Given the description of an element on the screen output the (x, y) to click on. 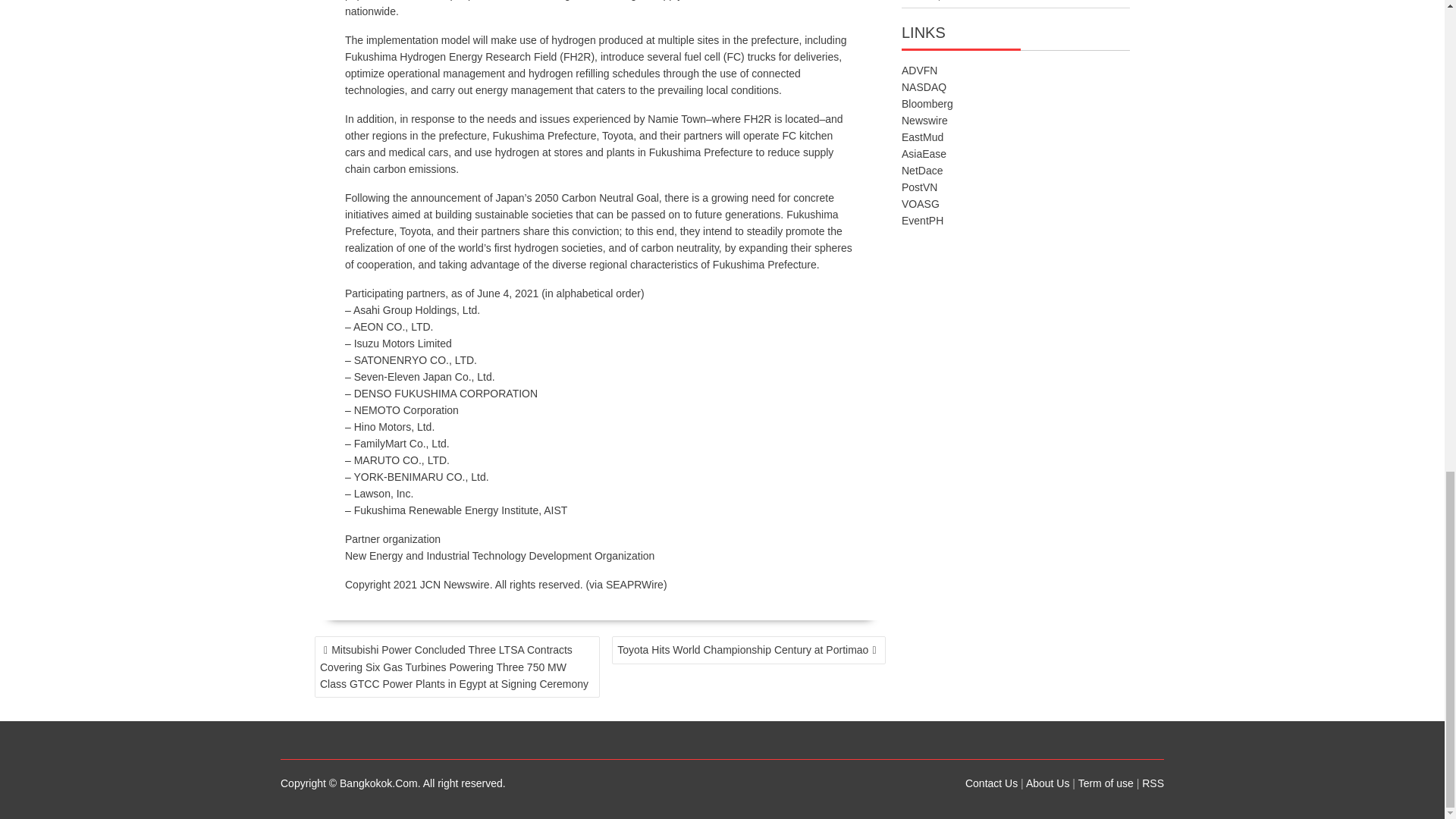
Toyota Hits World Championship Century at Portimao (748, 650)
